Given the description of an element on the screen output the (x, y) to click on. 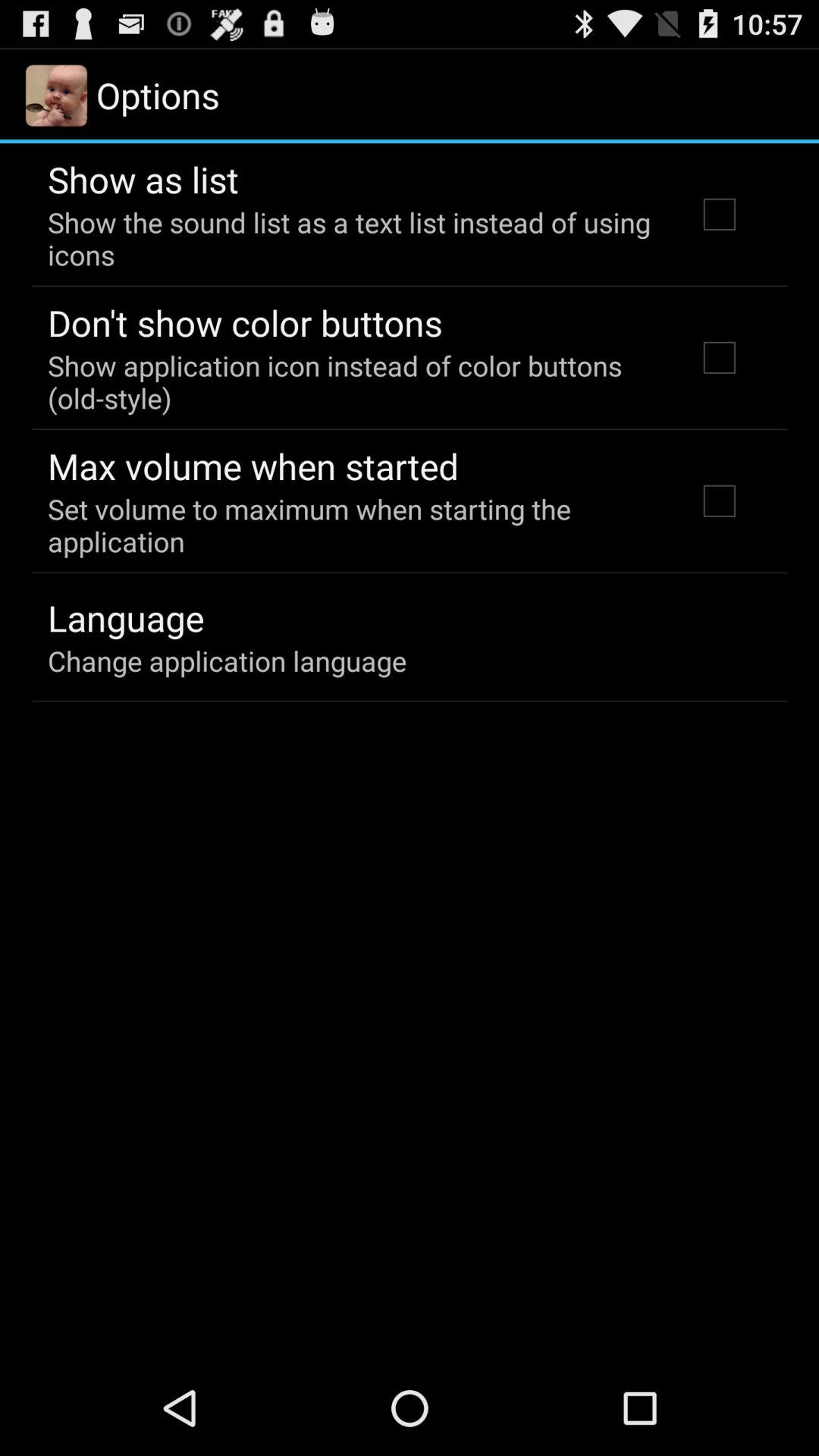
jump to the show the sound (351, 238)
